Given the description of an element on the screen output the (x, y) to click on. 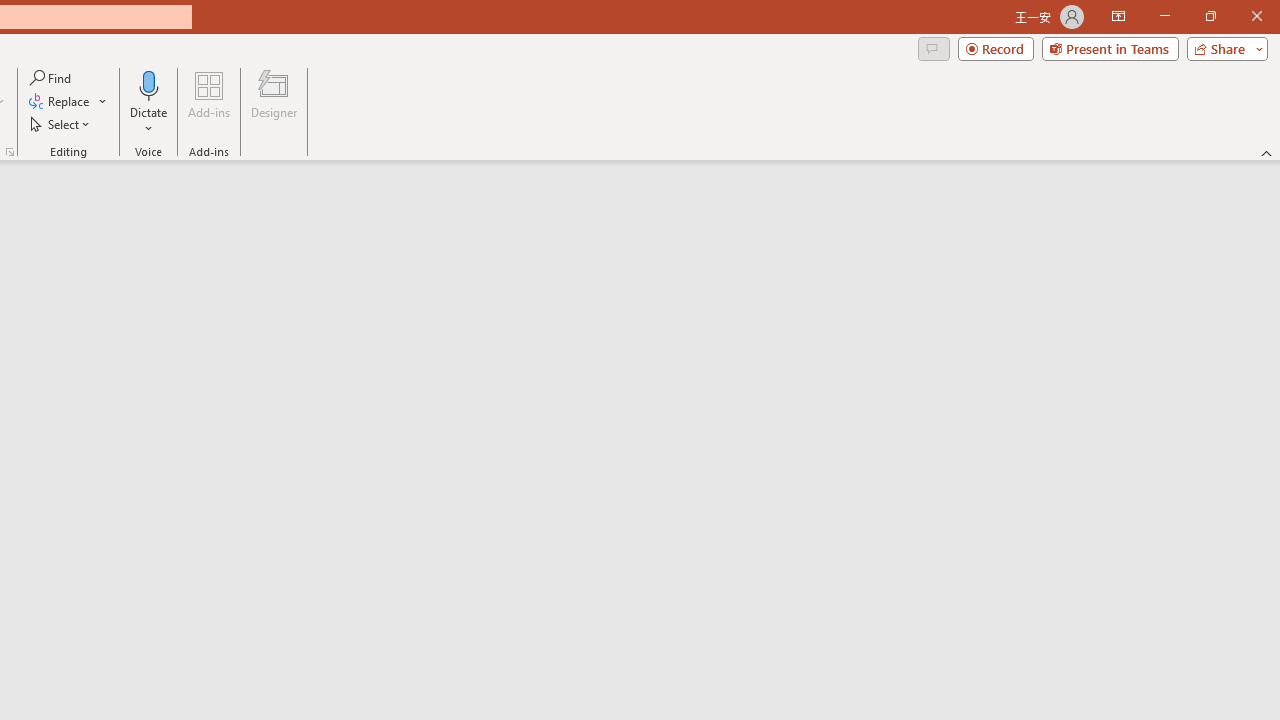
Minimize (1164, 16)
Restore Down (1210, 16)
Designer (274, 102)
Collapse the Ribbon (1267, 152)
Find... (51, 78)
